Given the description of an element on the screen output the (x, y) to click on. 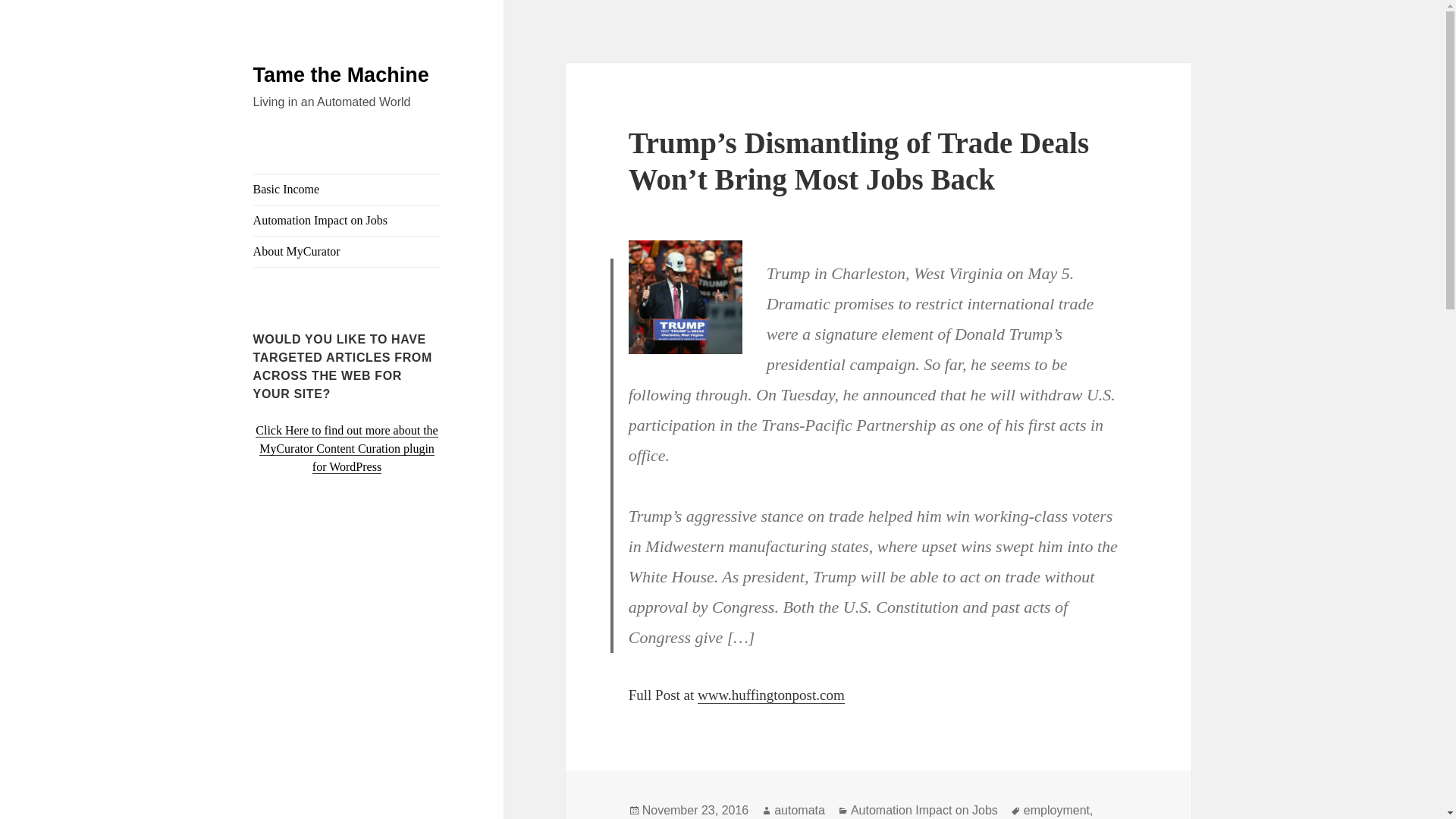
Automation Impact on Jobs (347, 220)
November 23, 2016 (695, 810)
Basic Income (347, 189)
automata (799, 810)
Automation Impact on Jobs (923, 810)
Tame the Machine (341, 74)
About MyCurator (347, 251)
www.huffingtonpost.com (770, 695)
employment (1056, 810)
